Given the description of an element on the screen output the (x, y) to click on. 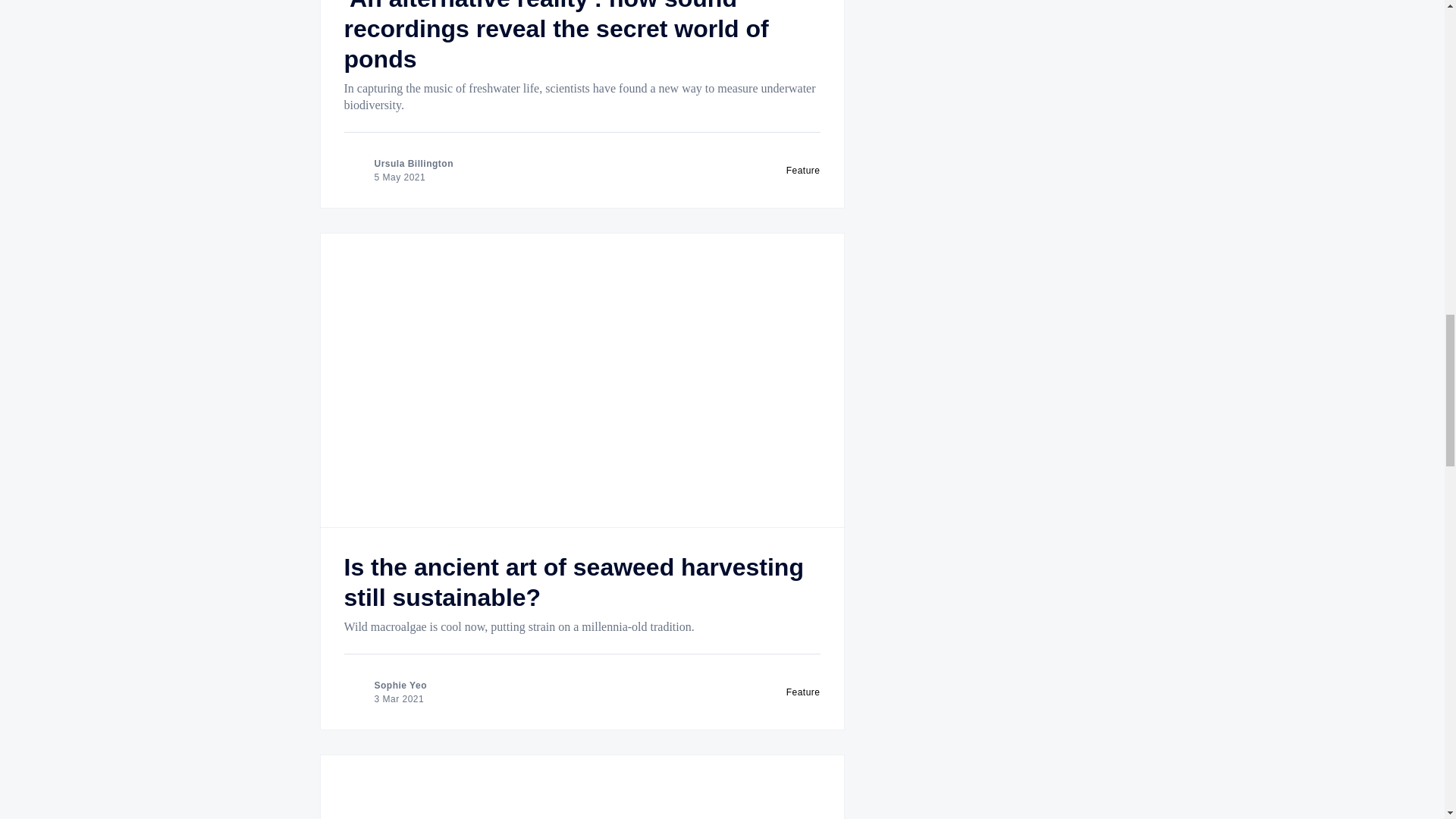
Feature (803, 692)
Sophie Yeo (400, 685)
Feature (803, 170)
Is the ancient art of seaweed harvesting still sustainable? (573, 581)
Ursula Billington (414, 163)
